Given the description of an element on the screen output the (x, y) to click on. 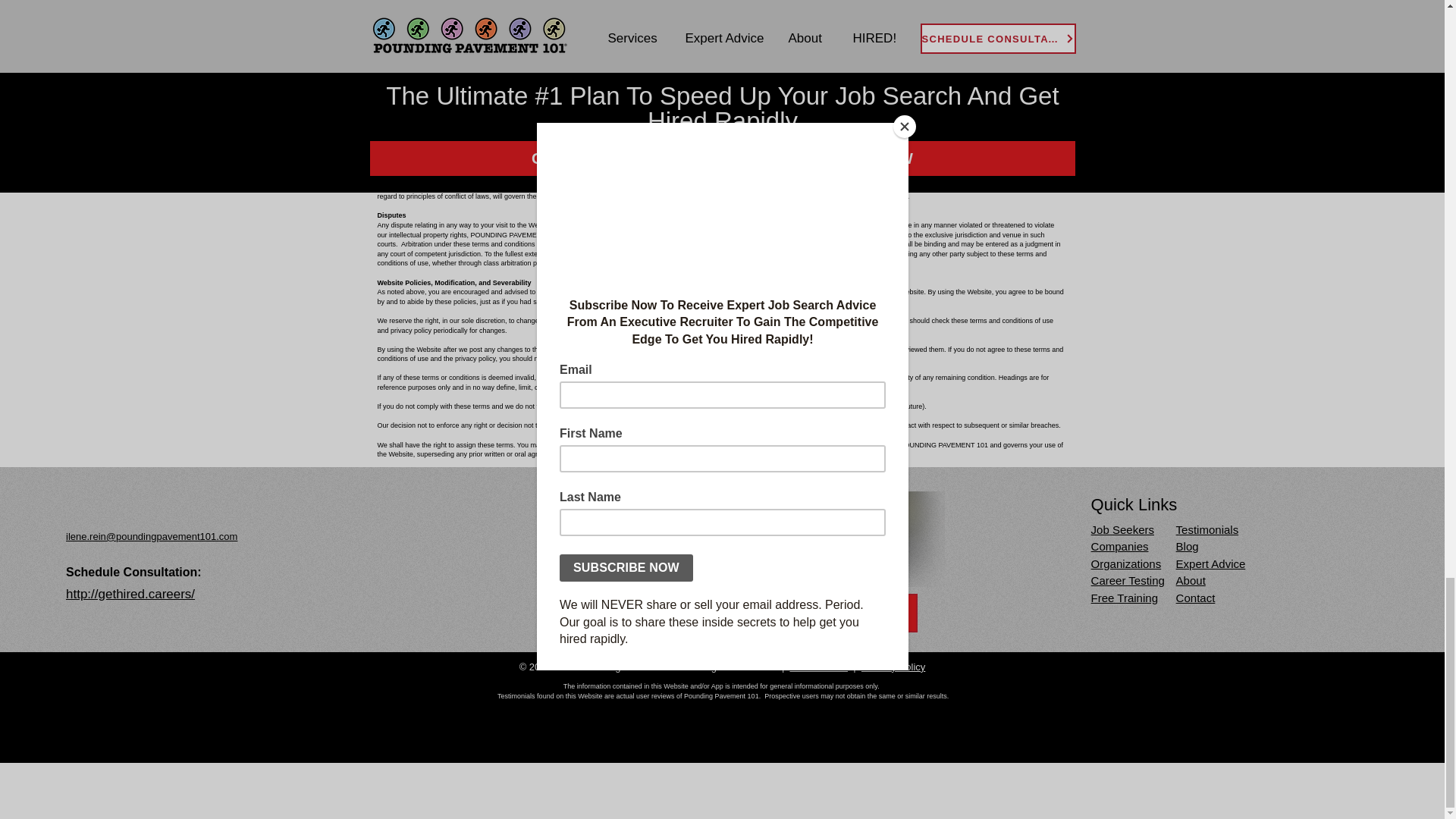
Career Testing (1127, 580)
Job Seekers (1122, 529)
Companies (1119, 545)
Organizations (1125, 563)
SUBSCRIBE FOR JOB SEARCH STRATEGIES (738, 612)
